Given the description of an element on the screen output the (x, y) to click on. 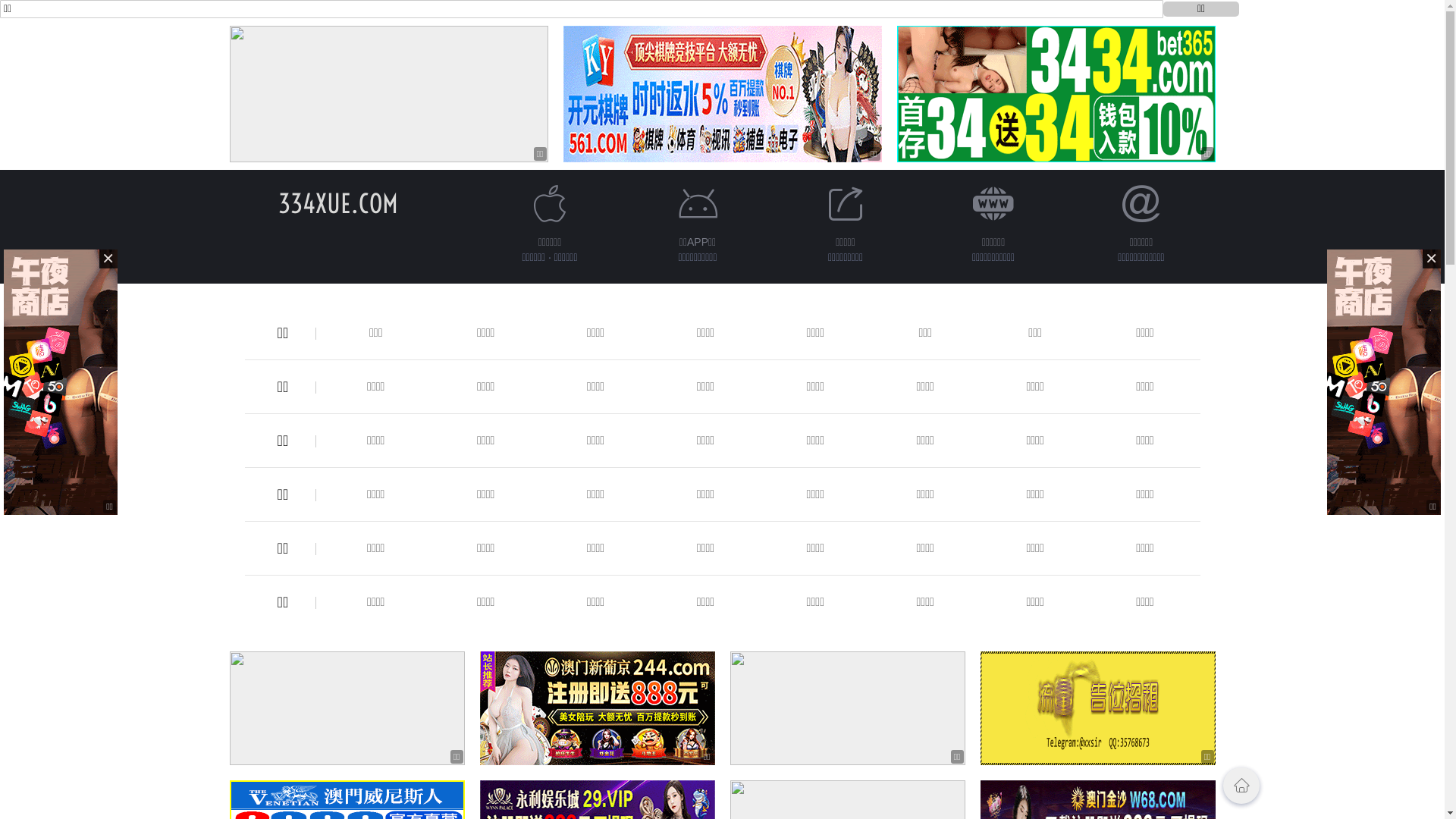
334XUE.COM Element type: text (337, 203)
